Given the description of an element on the screen output the (x, y) to click on. 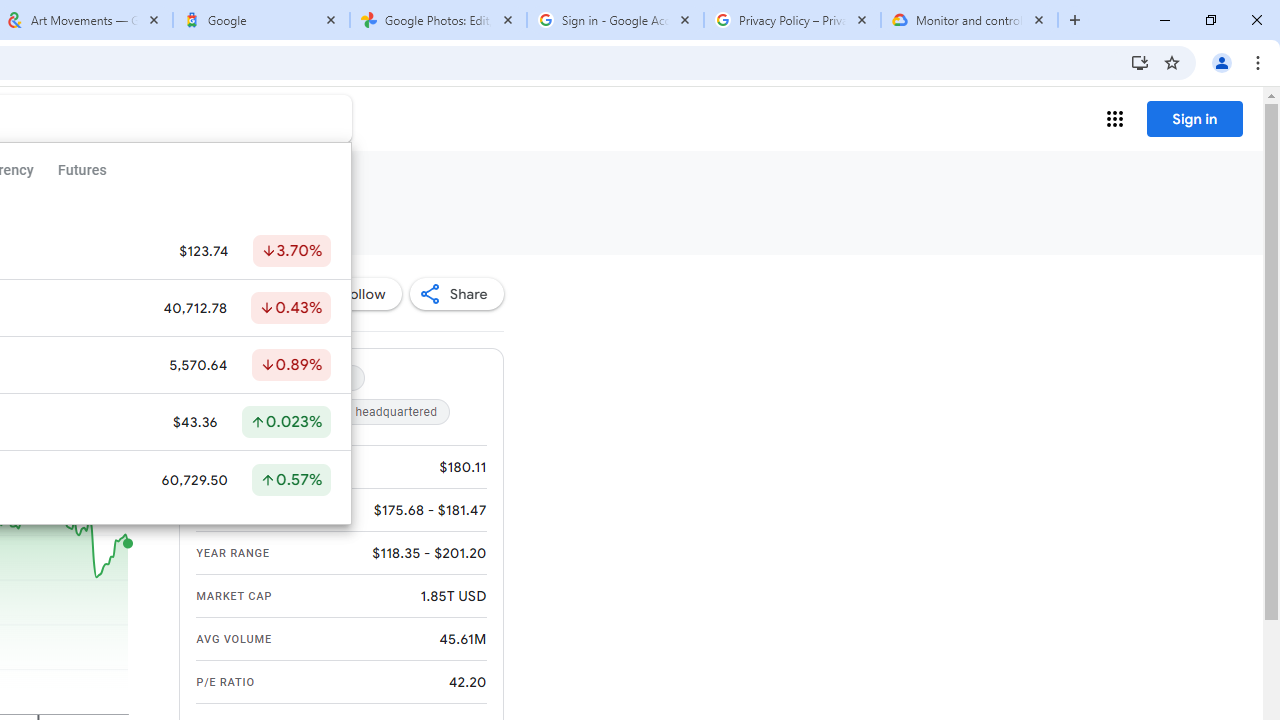
VIX 17.55 Up by 7.87% +1.28 (260, 218)
Most active (251, 377)
Follow (353, 293)
Share (456, 293)
Google (260, 20)
Sign in - Google Accounts (615, 20)
Futures (81, 170)
Russell 2,150.03 Down by 0.95% -20.53 (85, 218)
